Given the description of an element on the screen output the (x, y) to click on. 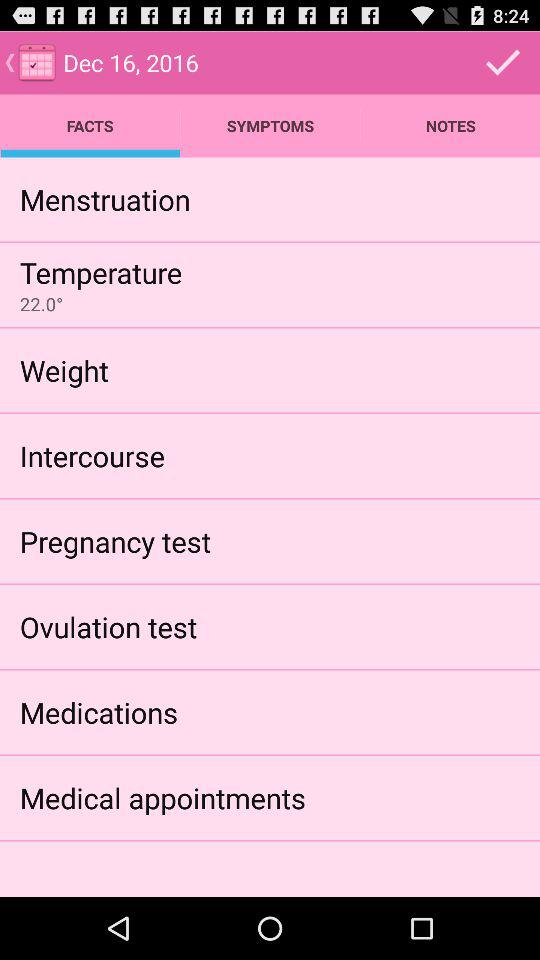
tap the menstruation icon (104, 199)
